Given the description of an element on the screen output the (x, y) to click on. 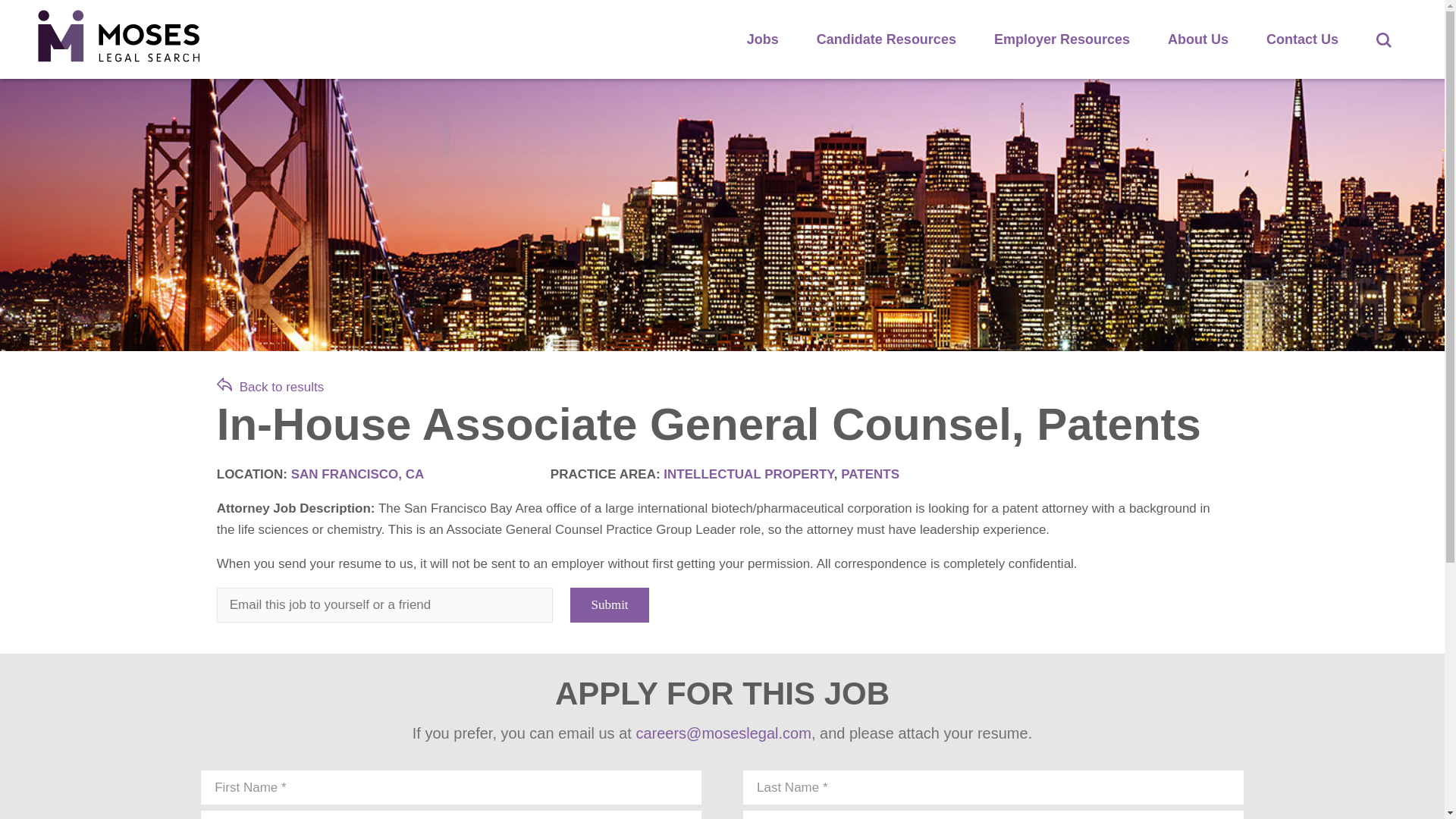
Jobs (762, 38)
Candidate Resources (886, 38)
INTELLECTUAL PROPERTY (747, 473)
SAN FRANCISCO, CA (358, 473)
Back to results (270, 386)
Search (1383, 39)
PATENTS (870, 473)
Submit (608, 605)
Contact Us (1302, 38)
Employer Resources (1061, 38)
About Us (1197, 38)
